Given the description of an element on the screen output the (x, y) to click on. 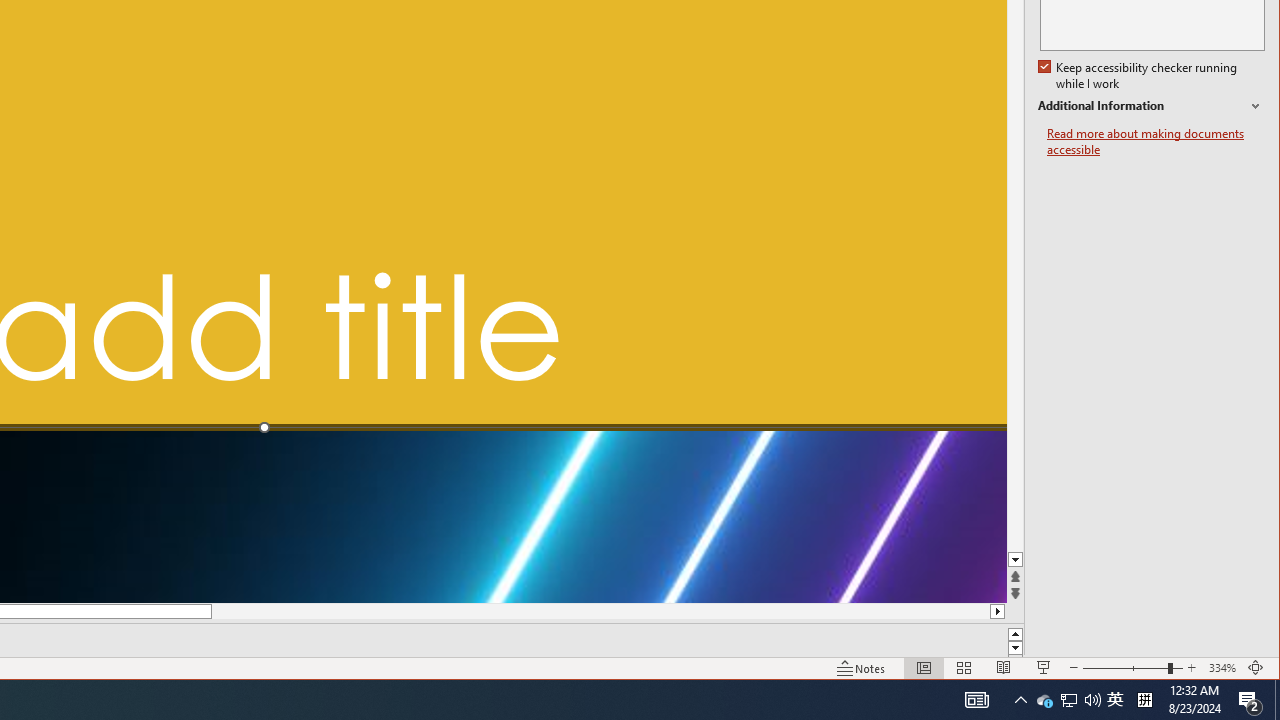
Zoom 334% (1222, 668)
Additional Information (1151, 106)
